Given the description of an element on the screen output the (x, y) to click on. 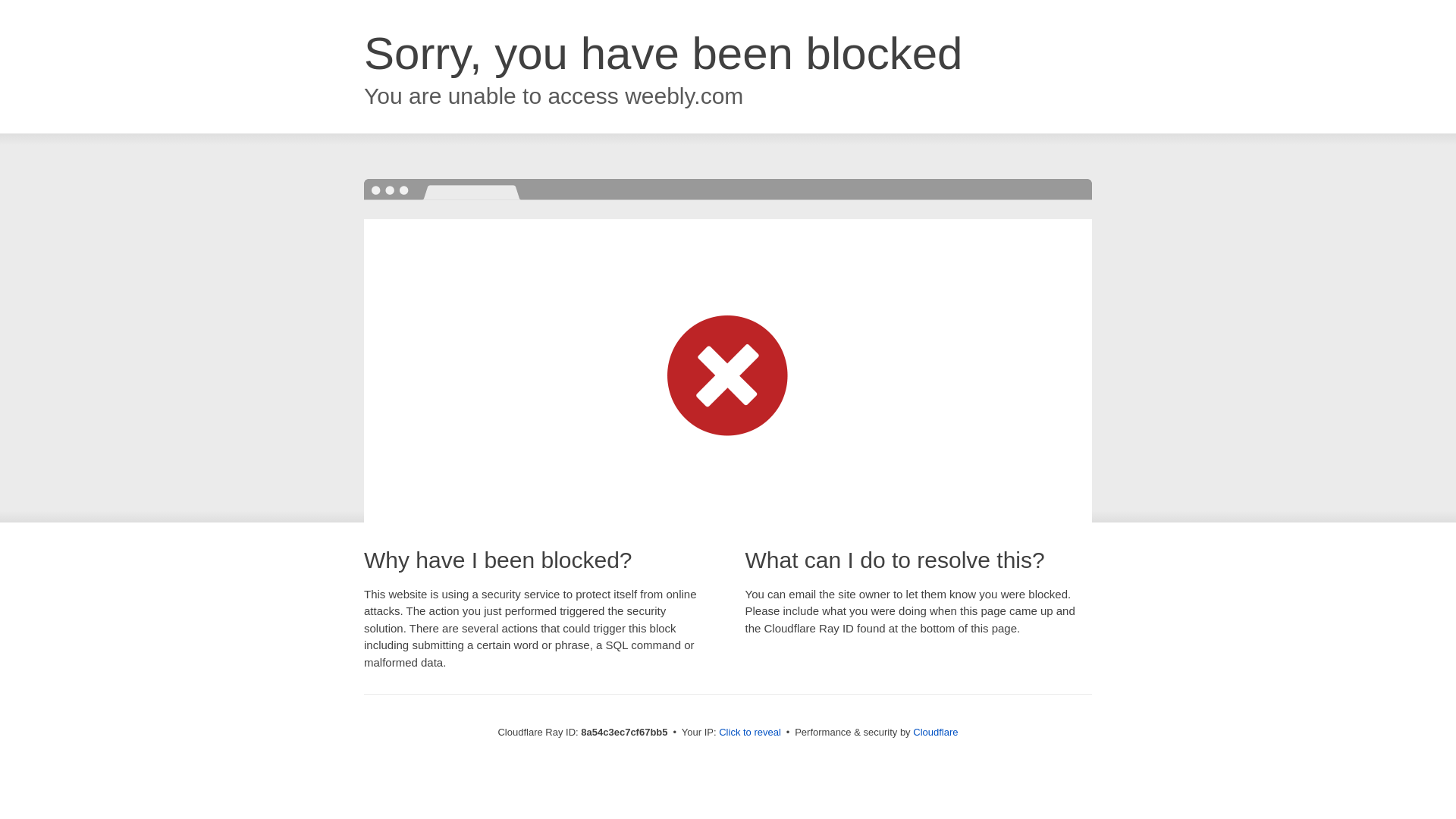
Cloudflare (935, 731)
Click to reveal (749, 732)
